Given the description of an element on the screen output the (x, y) to click on. 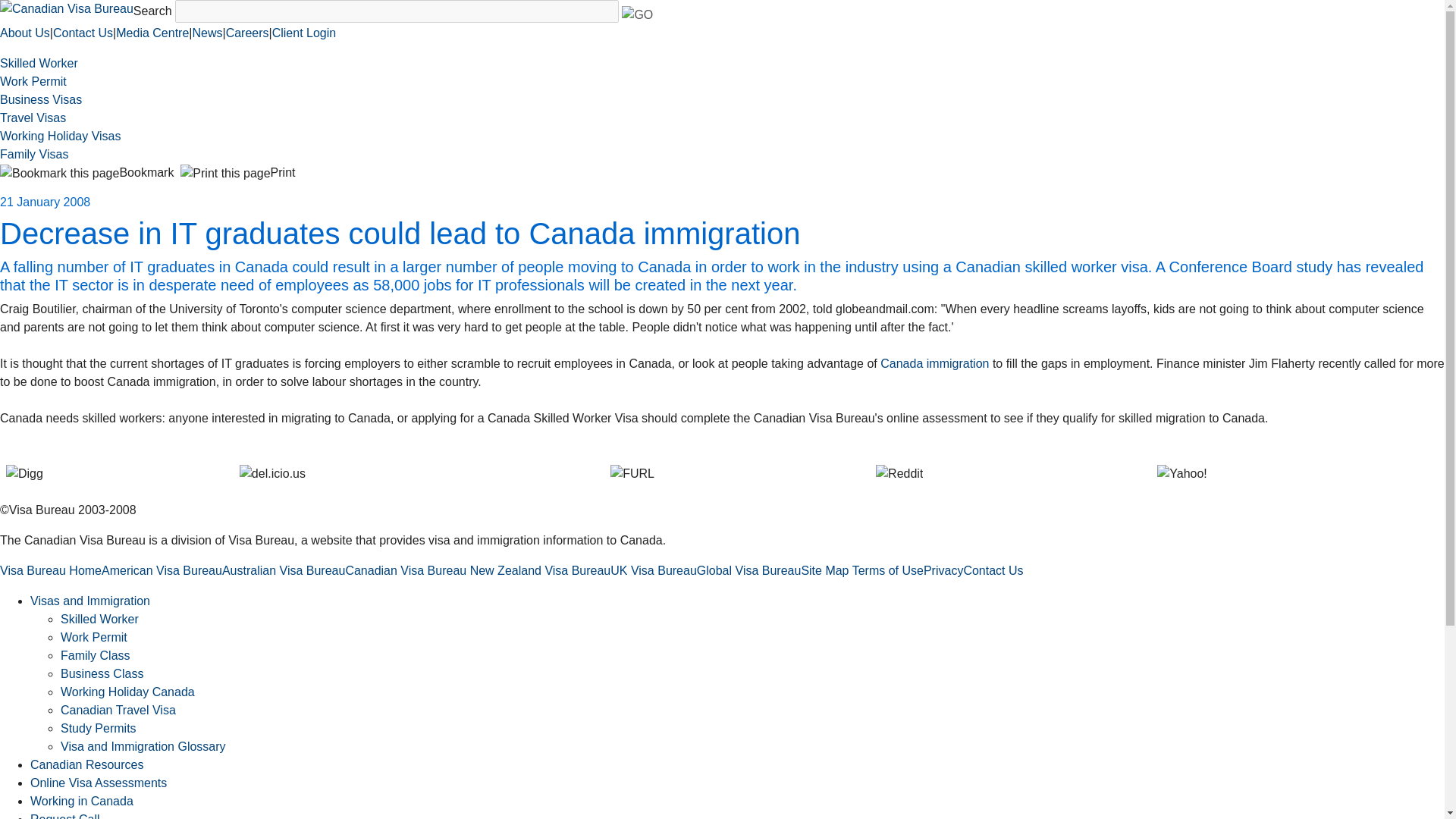
Working Holiday Canada (128, 691)
Media Centre (152, 32)
Site Map (824, 570)
Travel Visas (32, 117)
Terms of Use (887, 570)
Careers (247, 32)
Online Visa Assessments (98, 782)
American Visa Bureau (161, 570)
Work Permit (94, 636)
Privacy (942, 570)
Contact Us (82, 32)
Australian Visa Bureau (283, 570)
Canadian Resources (86, 764)
Canada immigration (934, 363)
Business Class (101, 673)
